Given the description of an element on the screen output the (x, y) to click on. 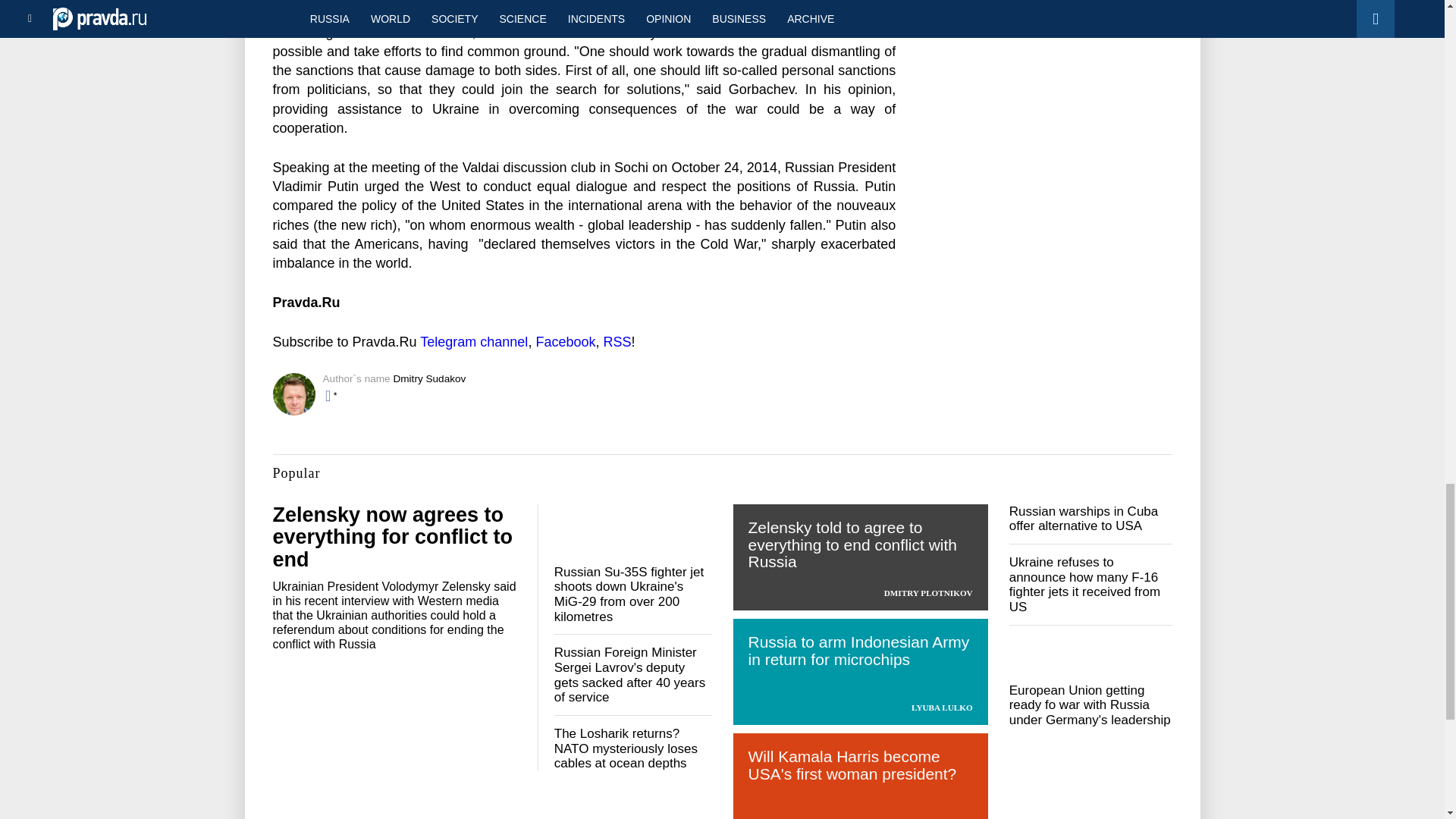
Dmitry Sudakov (429, 378)
RSS (616, 341)
Telegram channel (473, 341)
Facebook (565, 341)
